Given the description of an element on the screen output the (x, y) to click on. 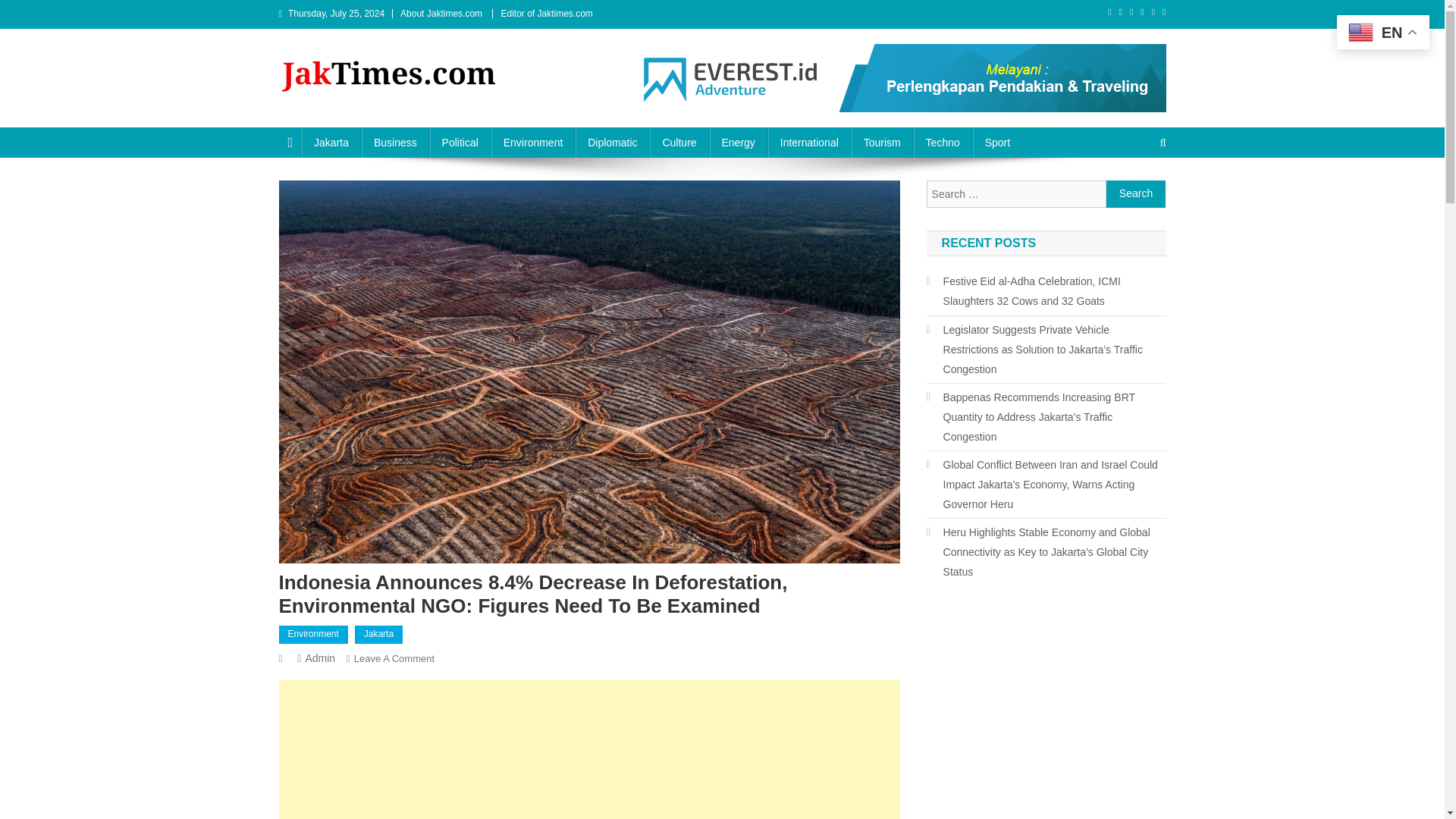
Search (1136, 194)
Culture (678, 142)
Jakarta (331, 142)
Admin (319, 657)
Techno (943, 142)
Tourism (881, 142)
Jakarta (379, 634)
Environment (313, 634)
Environment (533, 142)
About Jaktimes.com (440, 13)
Search (1133, 193)
Sport (997, 142)
Energy (738, 142)
Political (459, 142)
Editor of Jaktimes.com (546, 13)
